Given the description of an element on the screen output the (x, y) to click on. 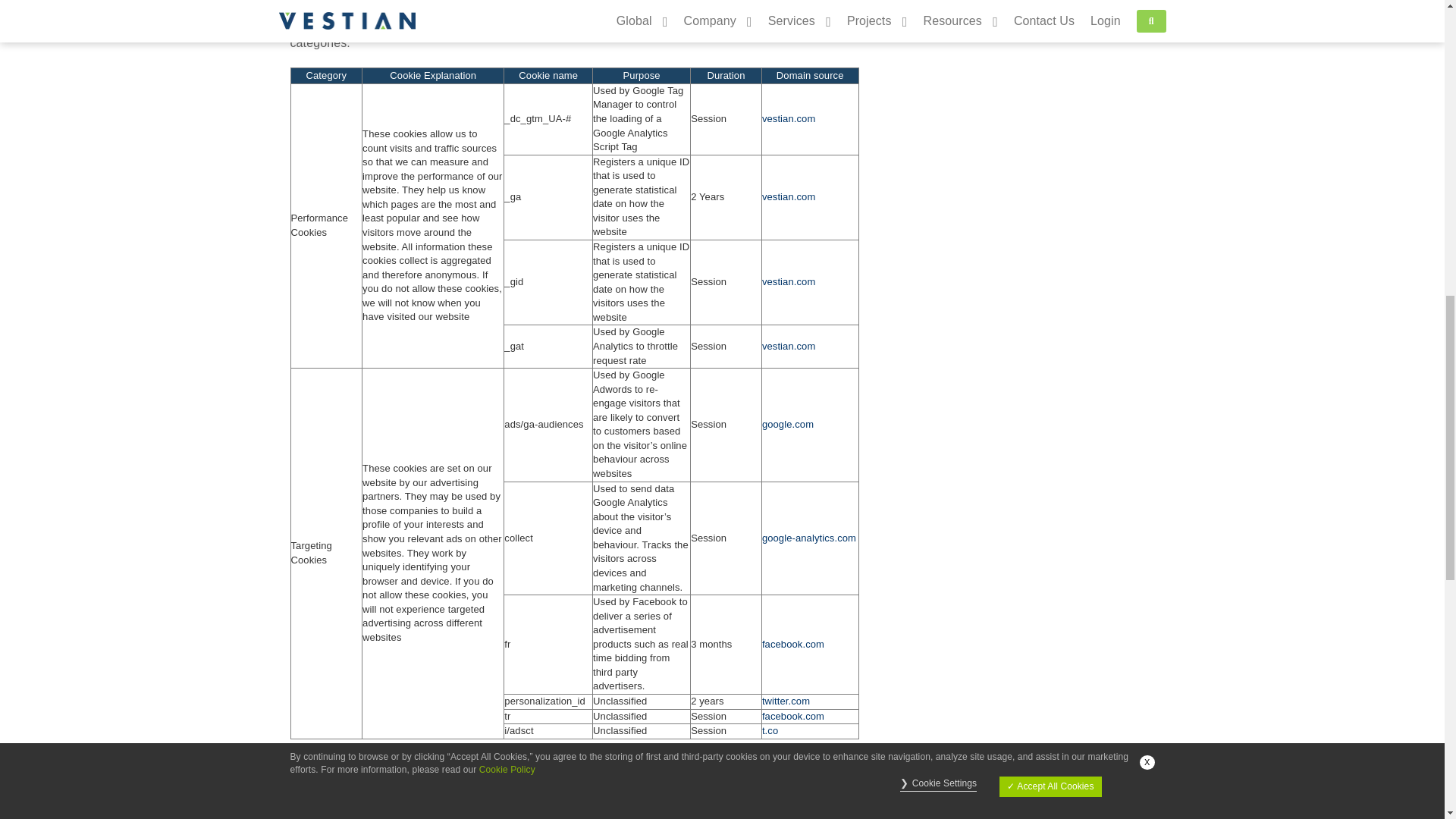
vestian.com (788, 118)
